Given the description of an element on the screen output the (x, y) to click on. 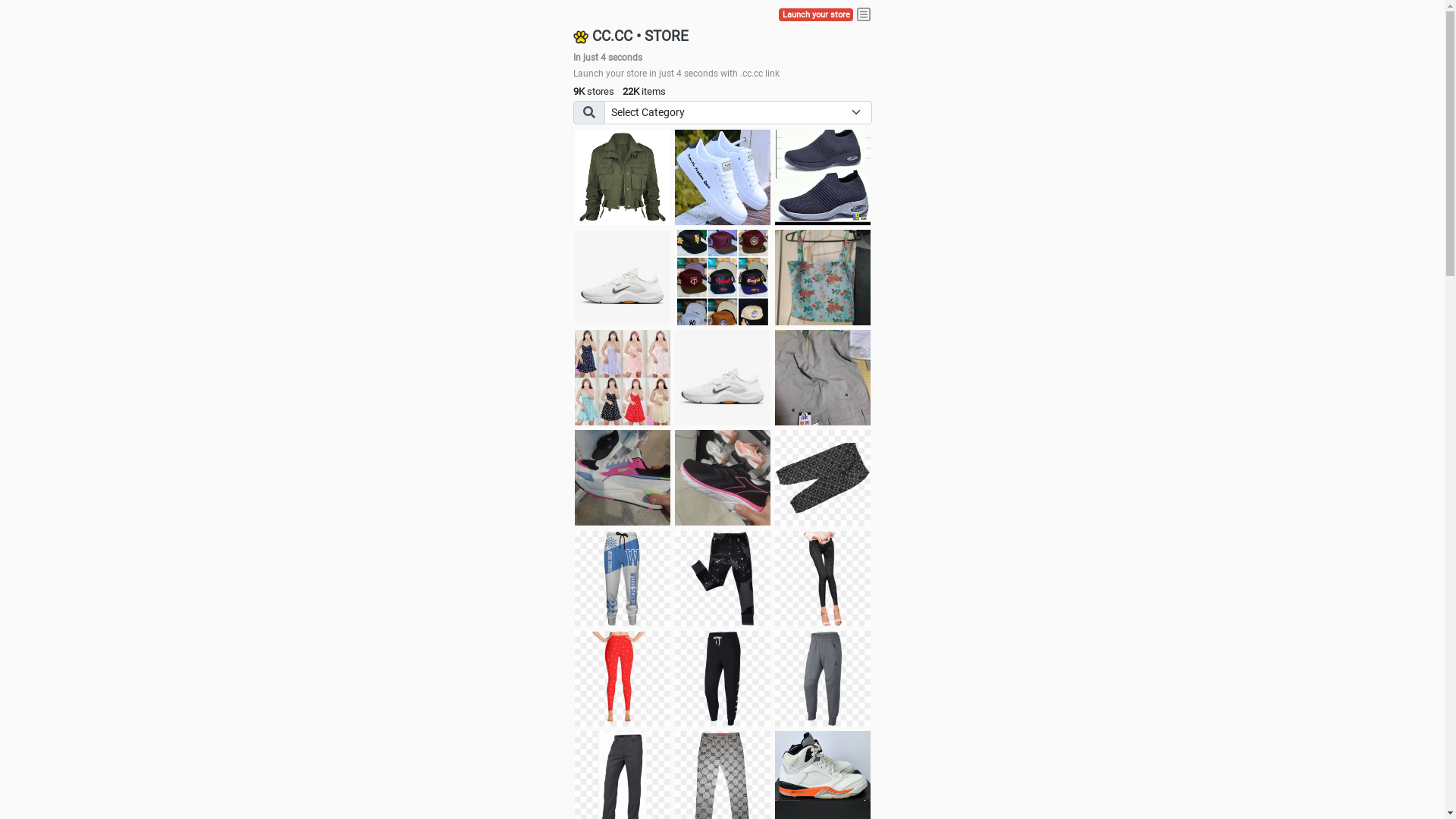
Short pant Element type: hover (822, 477)
Zapatillas Element type: hover (722, 477)
Shoes for boys Element type: hover (622, 277)
Launch your store Element type: text (815, 14)
Pant Element type: hover (822, 678)
Pant Element type: hover (622, 578)
Shoes Element type: hover (722, 377)
Pant Element type: hover (822, 578)
Ukay cloth Element type: hover (822, 277)
Dress/square nect top Element type: hover (622, 377)
Pant Element type: hover (722, 578)
Pant Element type: hover (622, 678)
Pant Element type: hover (722, 678)
Zapatillas pumas Element type: hover (622, 477)
Things we need Element type: hover (722, 277)
shoes for boys Element type: hover (822, 177)
jacket Element type: hover (622, 177)
white shoes Element type: hover (722, 177)
